Given the description of an element on the screen output the (x, y) to click on. 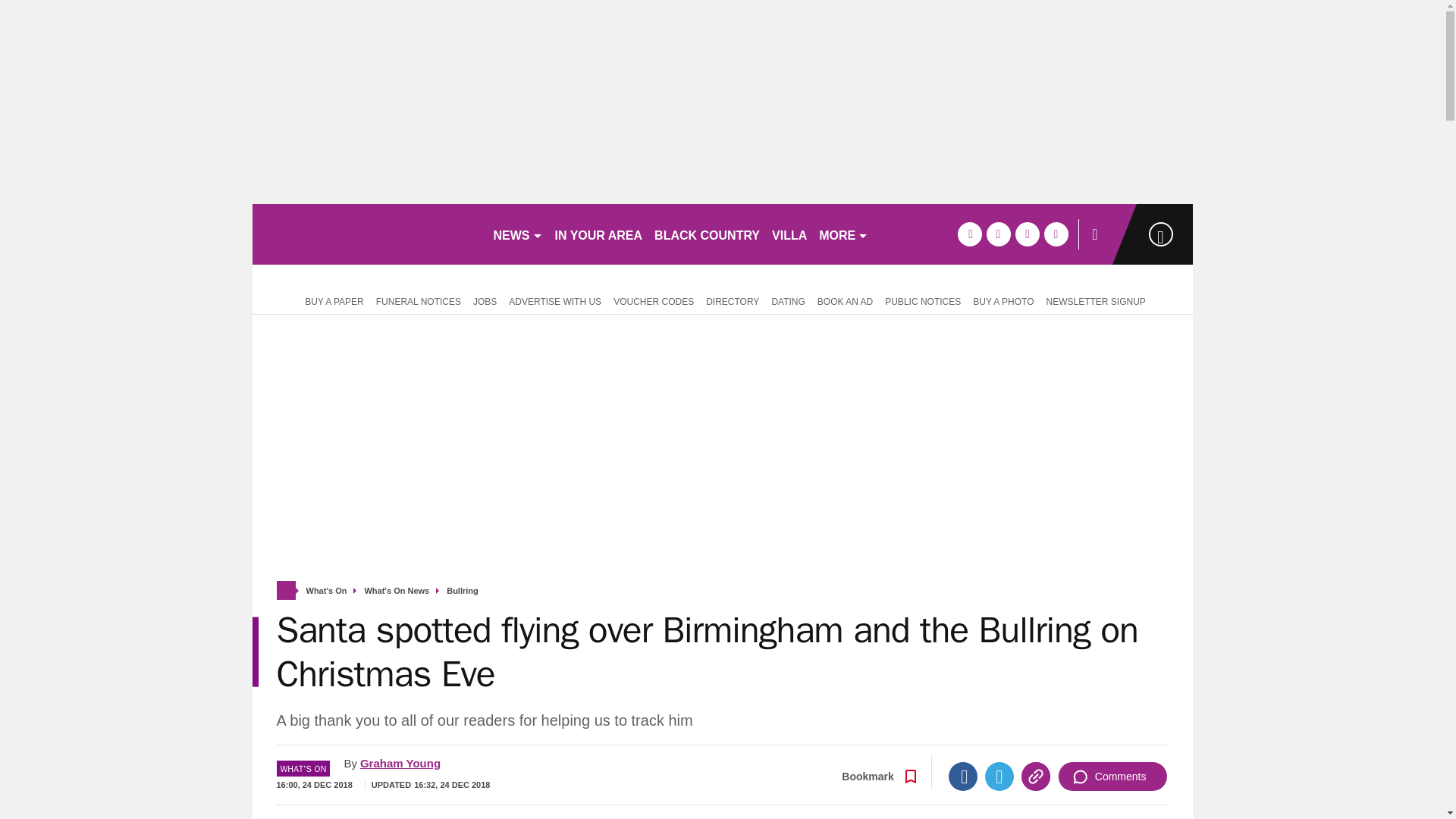
Twitter (999, 776)
MORE (843, 233)
twitter (997, 233)
instagram (1055, 233)
Comments (1112, 776)
IN YOUR AREA (598, 233)
BLACK COUNTRY (706, 233)
birminghammail (365, 233)
tiktok (1026, 233)
Facebook (962, 776)
